Given the description of an element on the screen output the (x, y) to click on. 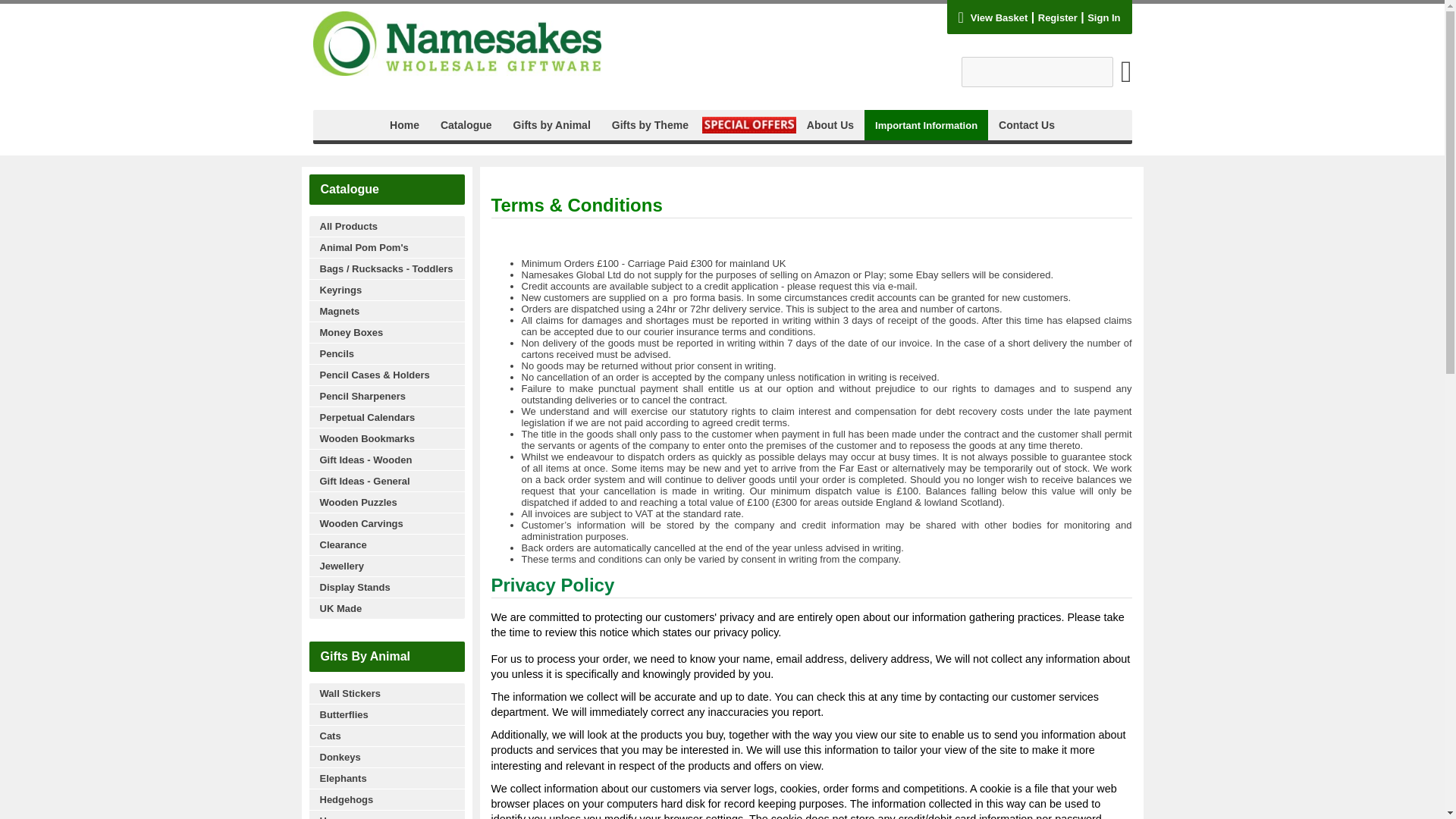
Jewellery (386, 565)
Wooden Puzzles (386, 501)
Magnets (386, 310)
Money Boxes (386, 332)
Gift Ideas - Wooden (386, 459)
Elephants (386, 777)
Keyrings (386, 289)
Gift Ideas - General (386, 480)
Horses (386, 814)
Pencils (386, 353)
Perpetual Calendars (386, 416)
Go (1126, 78)
UK Made (386, 608)
Butterflies (386, 713)
Display Stands (386, 586)
